Given the description of an element on the screen output the (x, y) to click on. 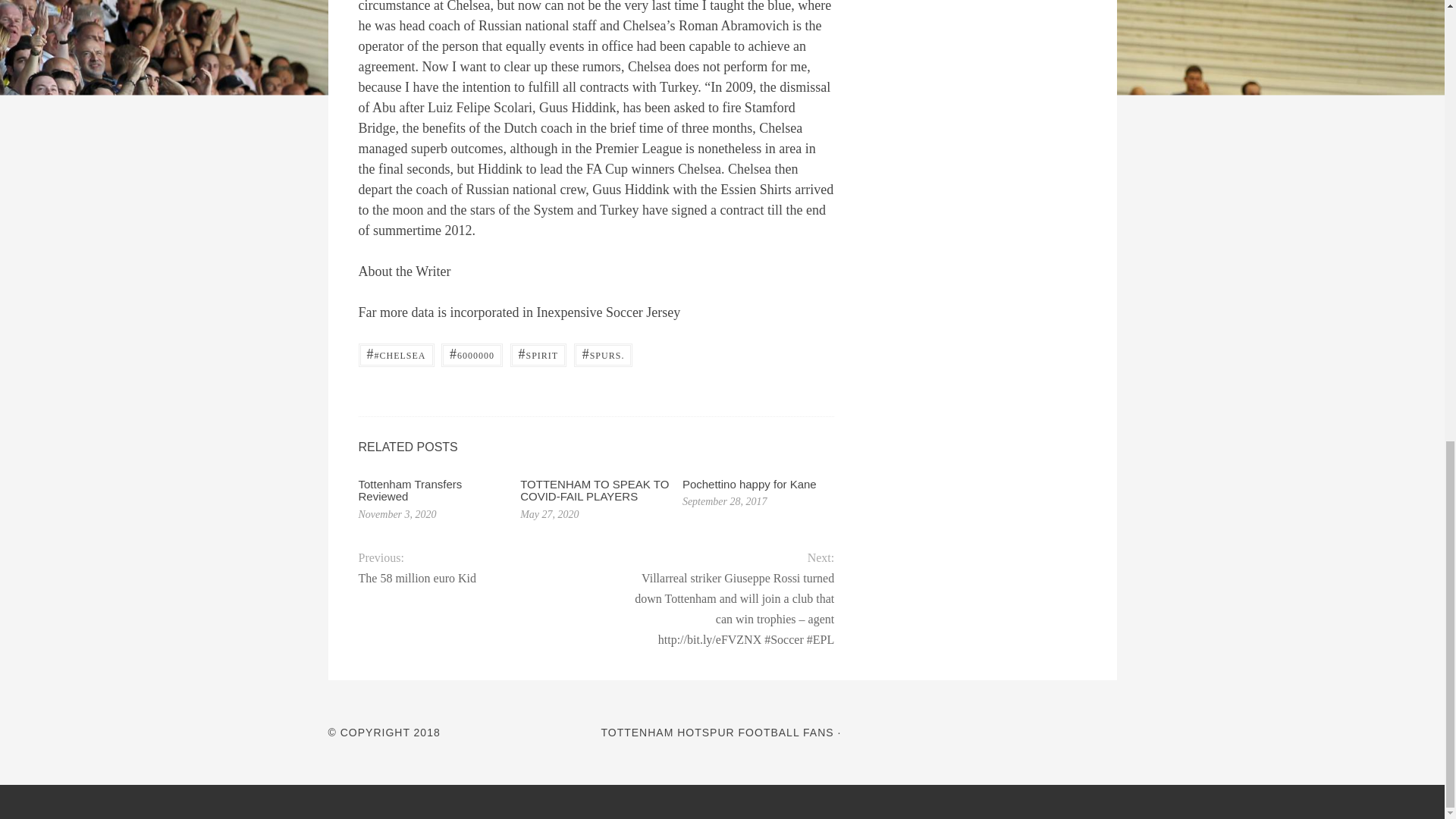
TOTTENHAM TO SPEAK TO COVID-FAIL PLAYERS (593, 490)
The 58 million euro Kid (465, 578)
Tottenham Transfers Reviewed (409, 490)
Pochettino happy for Kane (749, 483)
